Given the description of an element on the screen output the (x, y) to click on. 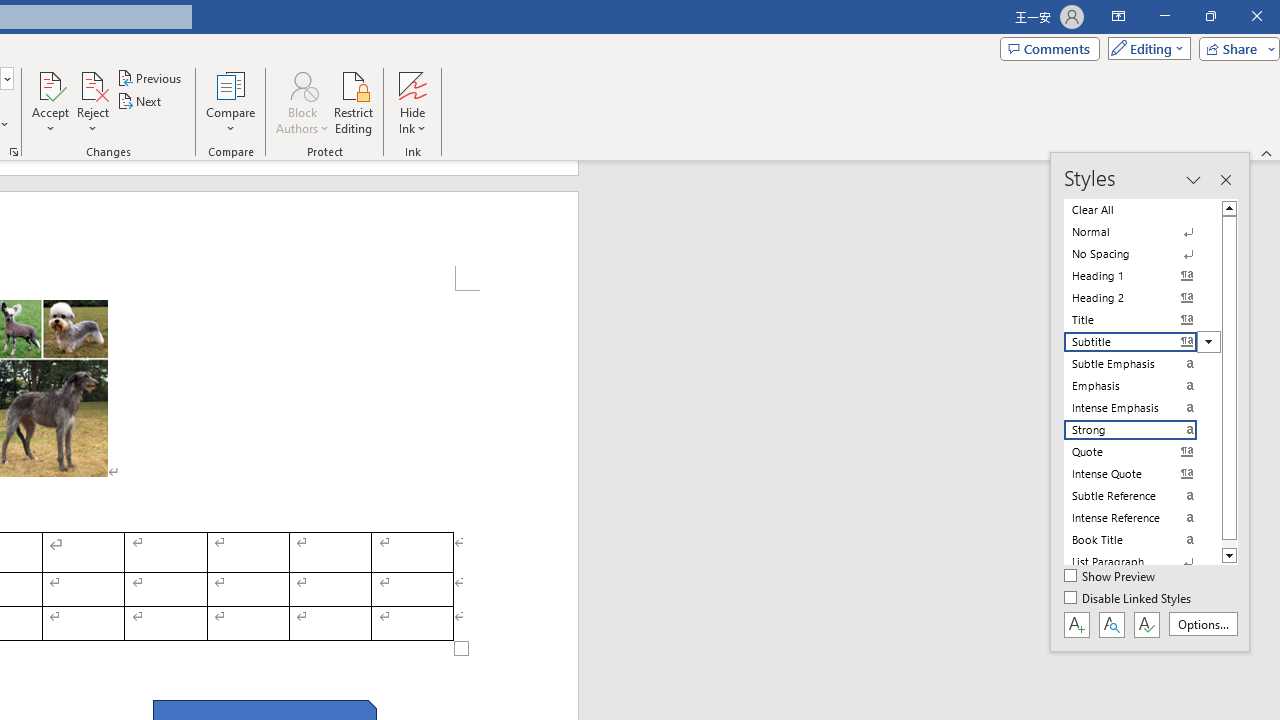
Normal (1142, 232)
Compare (230, 102)
Accept (50, 102)
Editing (1144, 47)
Intense Quote (1142, 473)
Block Authors (302, 84)
Heading 2 (1142, 297)
Quote (1142, 451)
Previous (150, 78)
Hide Ink (412, 102)
